Given the description of an element on the screen output the (x, y) to click on. 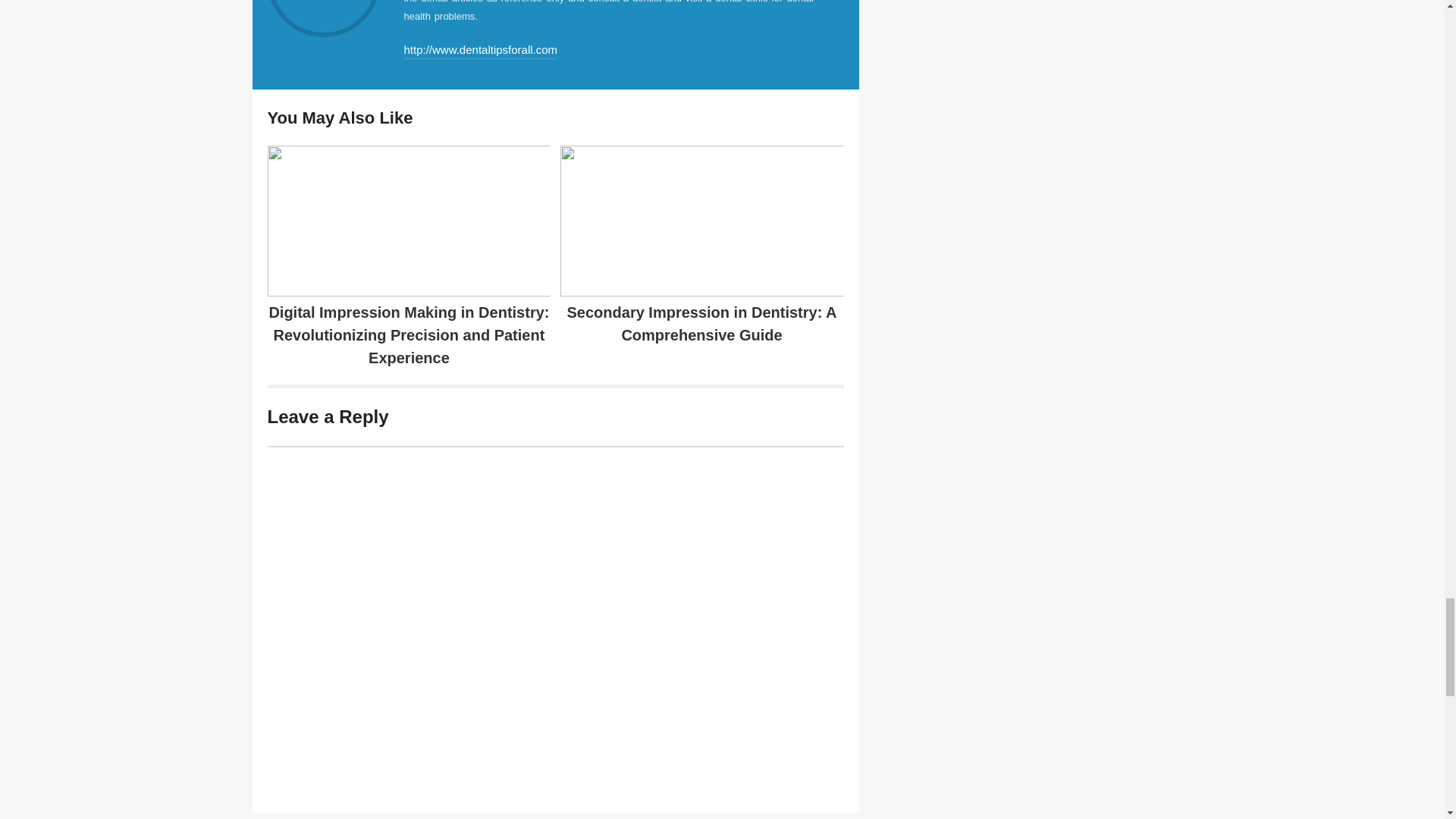
Visit my Website (480, 50)
Secondary Impression in Dentistry: A Comprehensive Guide (702, 323)
